Given the description of an element on the screen output the (x, y) to click on. 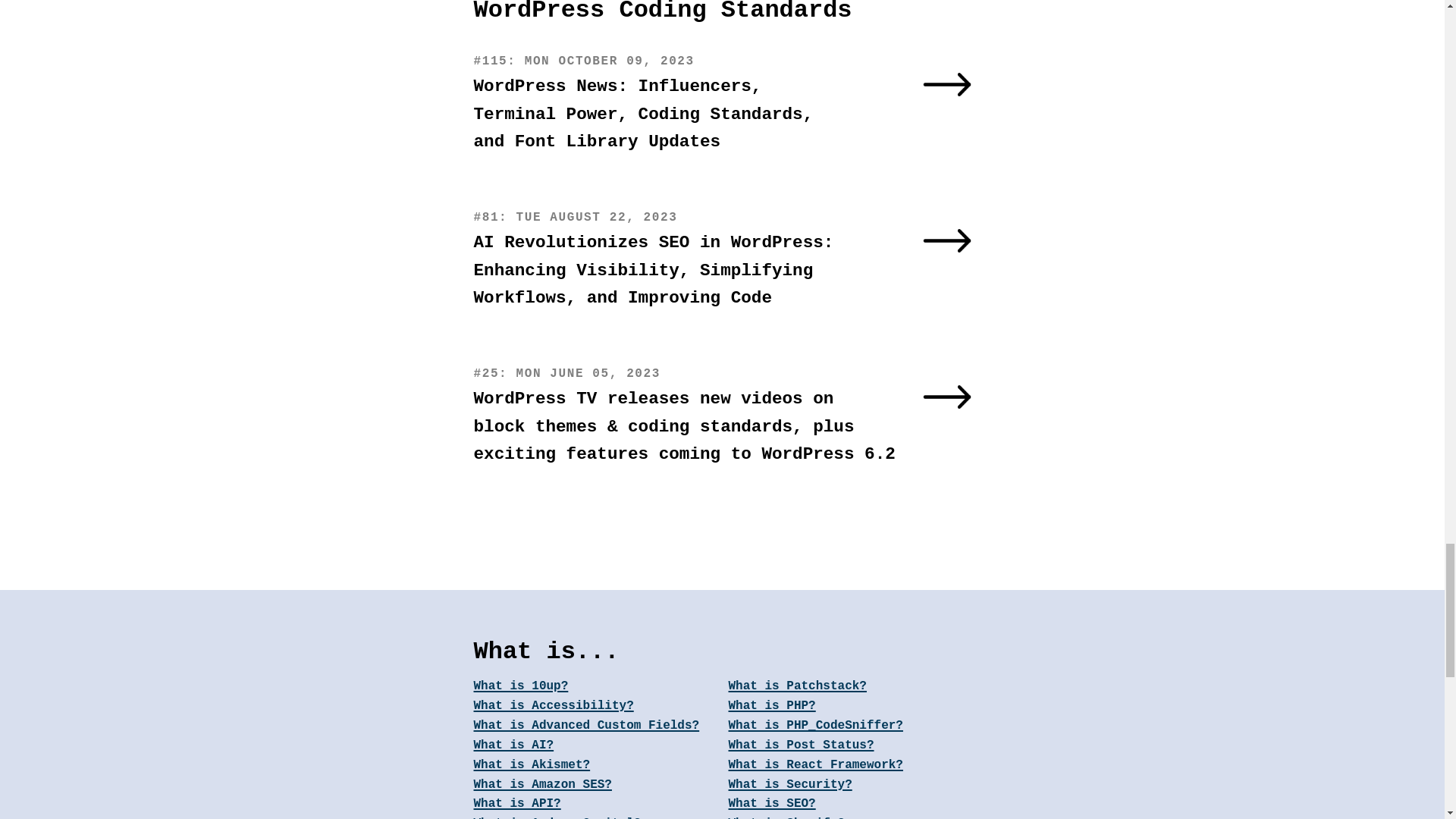
What is AI? (594, 745)
What is Amazon SES? (594, 785)
What is 10up? (594, 686)
What is Accessibility? (594, 706)
What is API? (594, 804)
What is Advanced Custom Fields? (594, 726)
What is Audrey Capital? (594, 816)
What is Akismet? (594, 765)
